Given the description of an element on the screen output the (x, y) to click on. 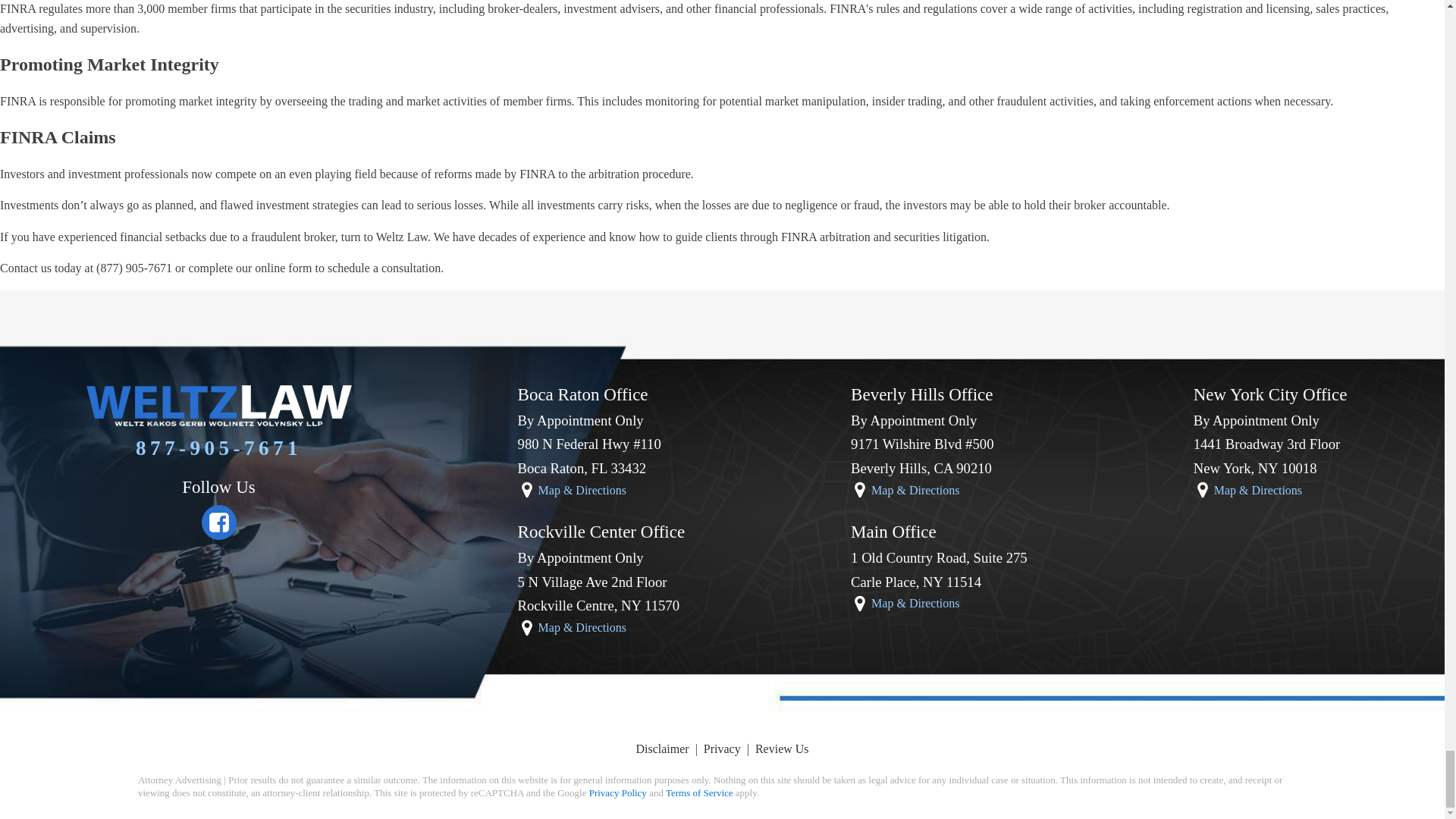
877-905-7671 (218, 447)
